Given the description of an element on the screen output the (x, y) to click on. 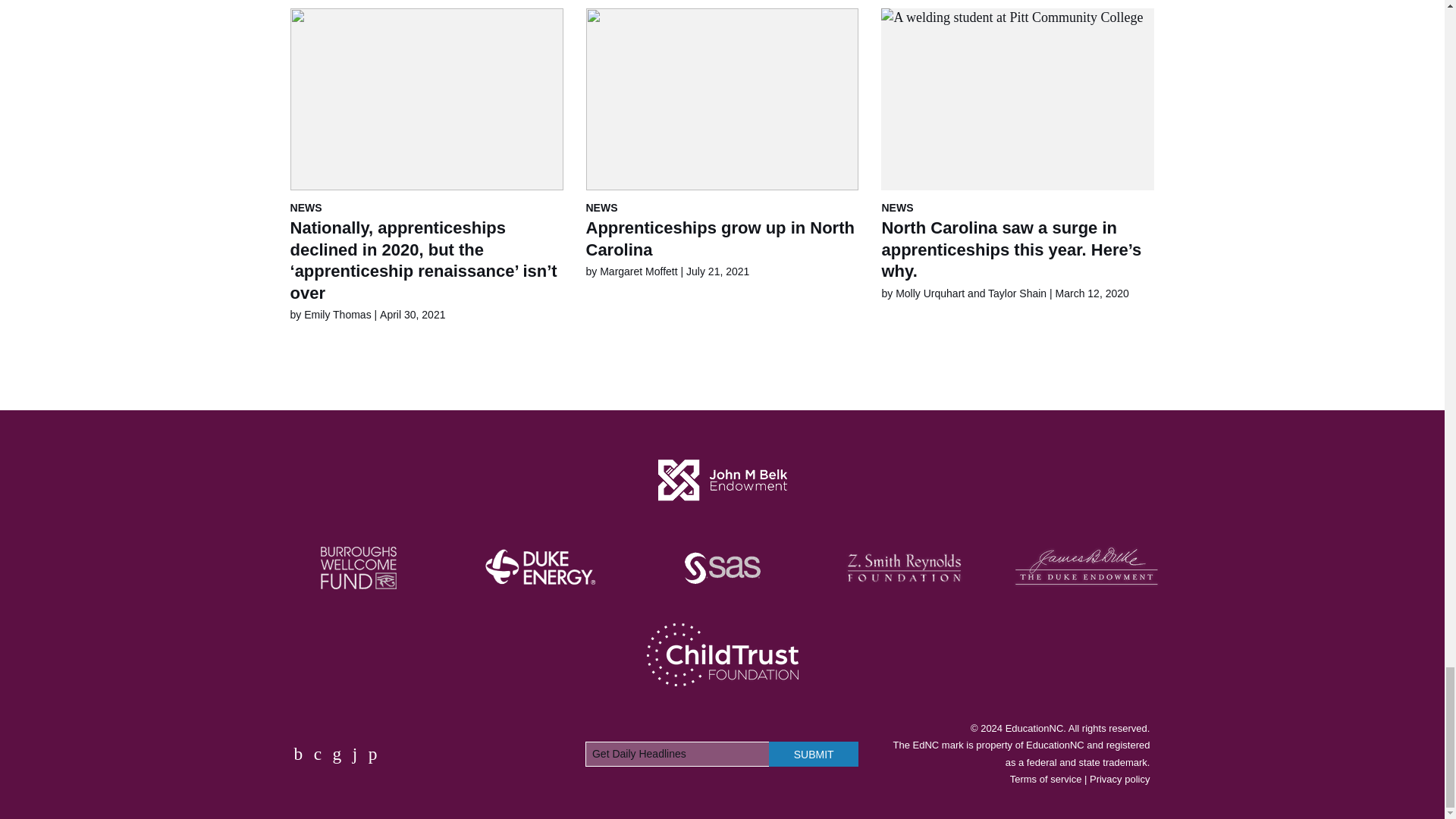
SUBMIT (813, 754)
